Given the description of an element on the screen output the (x, y) to click on. 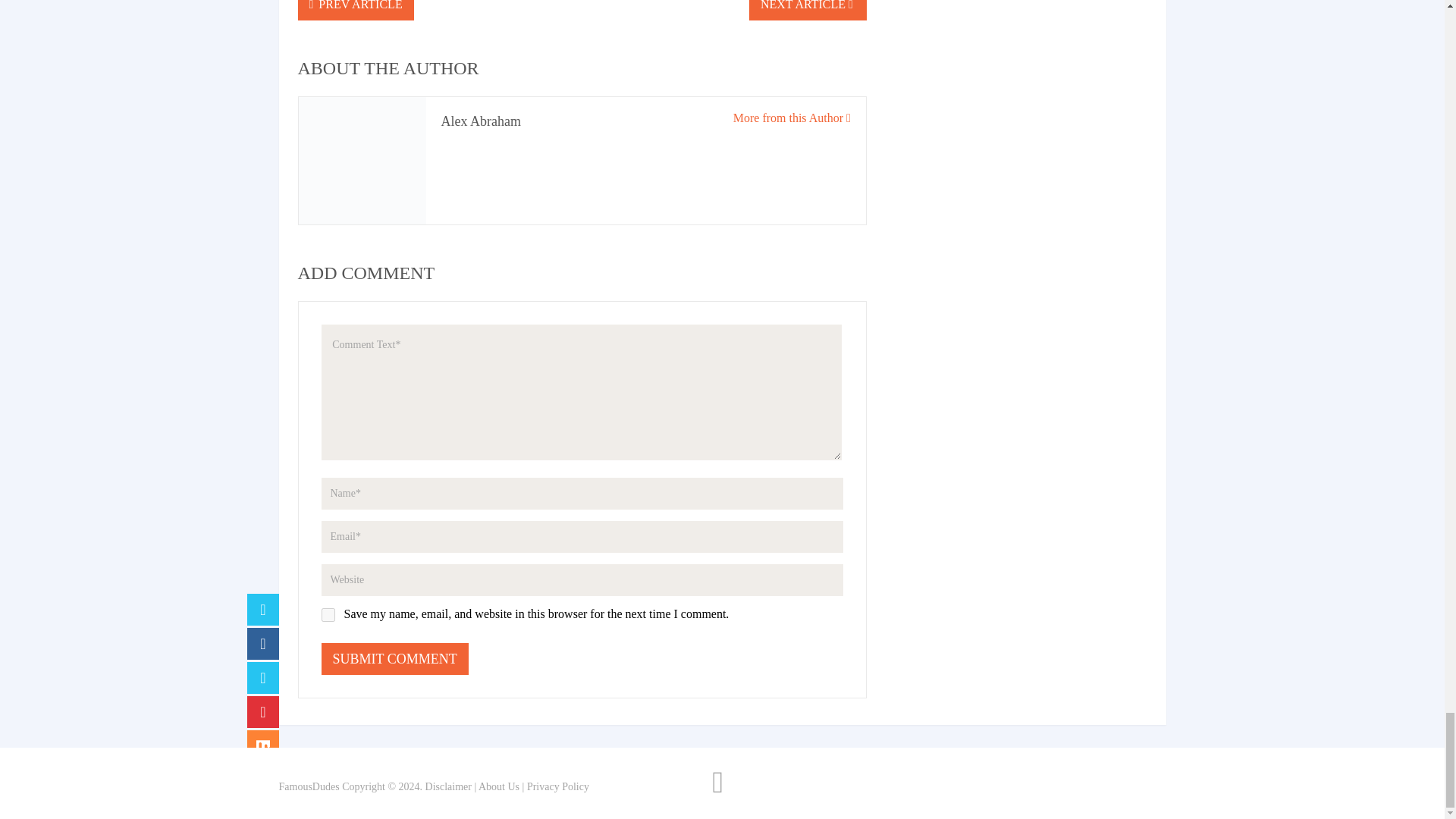
yes (327, 614)
Submit Comment (394, 658)
